Given the description of an element on the screen output the (x, y) to click on. 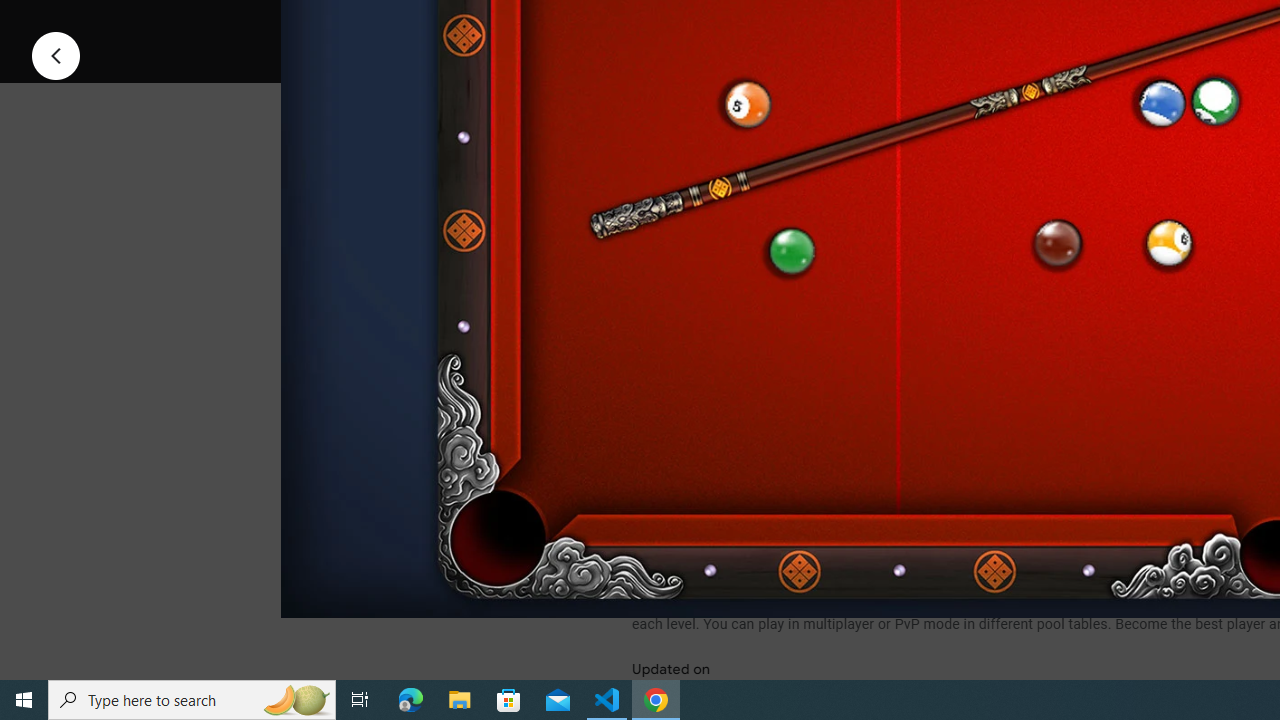
Share (890, 24)
See more information on About this game (830, 477)
Screenshot image (895, 271)
Install (732, 24)
Previous (55, 54)
Add to wishlist (1014, 24)
